Given the description of an element on the screen output the (x, y) to click on. 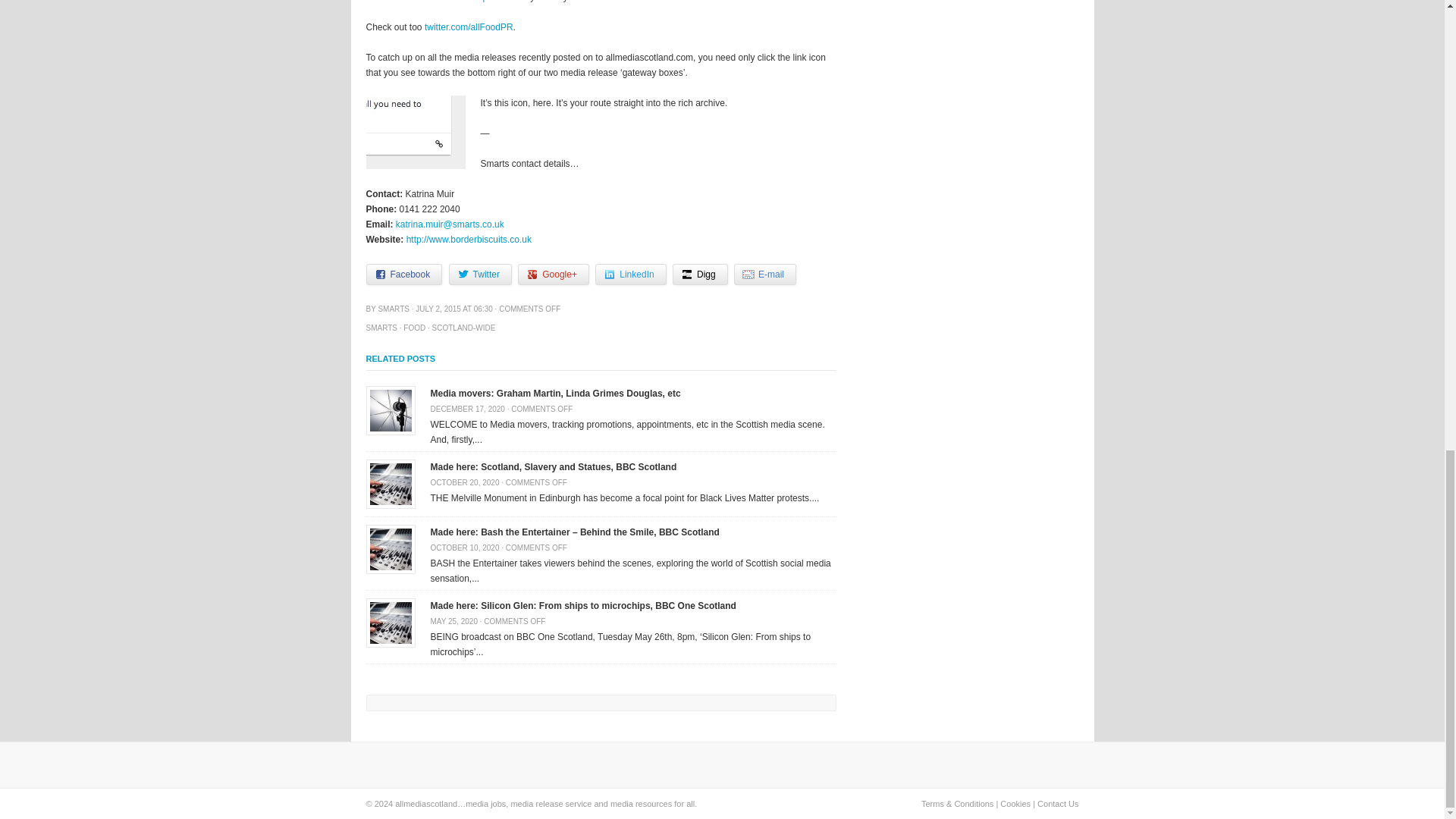
Share this article on Digg (700, 274)
Share this article on LinkedIn (630, 274)
Share this article on Twitter (480, 274)
Share this article on Facebook (403, 274)
